Given the description of an element on the screen output the (x, y) to click on. 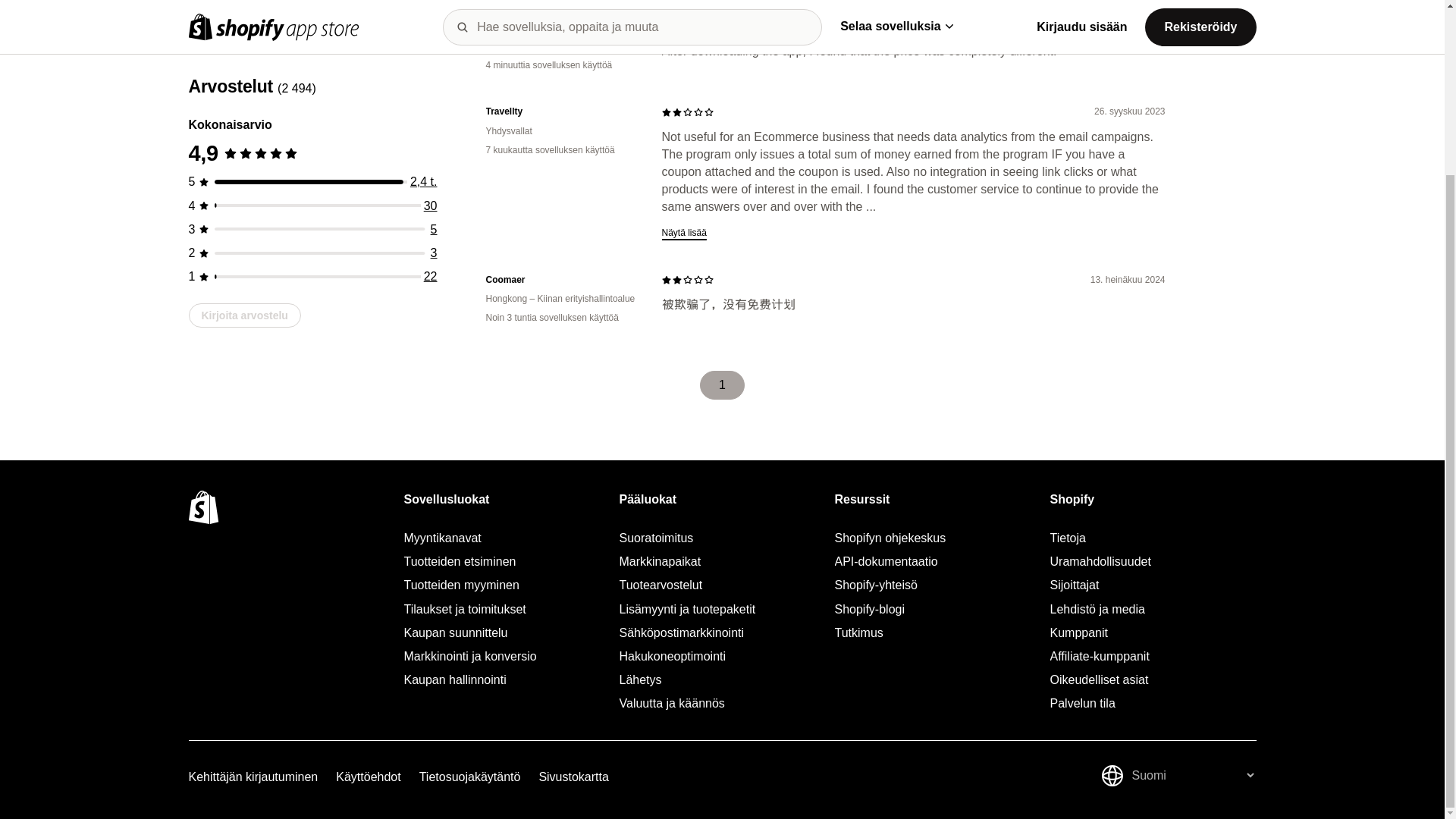
2,4 t. (424, 71)
Travellty (560, 111)
30 (430, 95)
Coomaer (560, 279)
fr.xega (560, 26)
22 (430, 165)
